Given the description of an element on the screen output the (x, y) to click on. 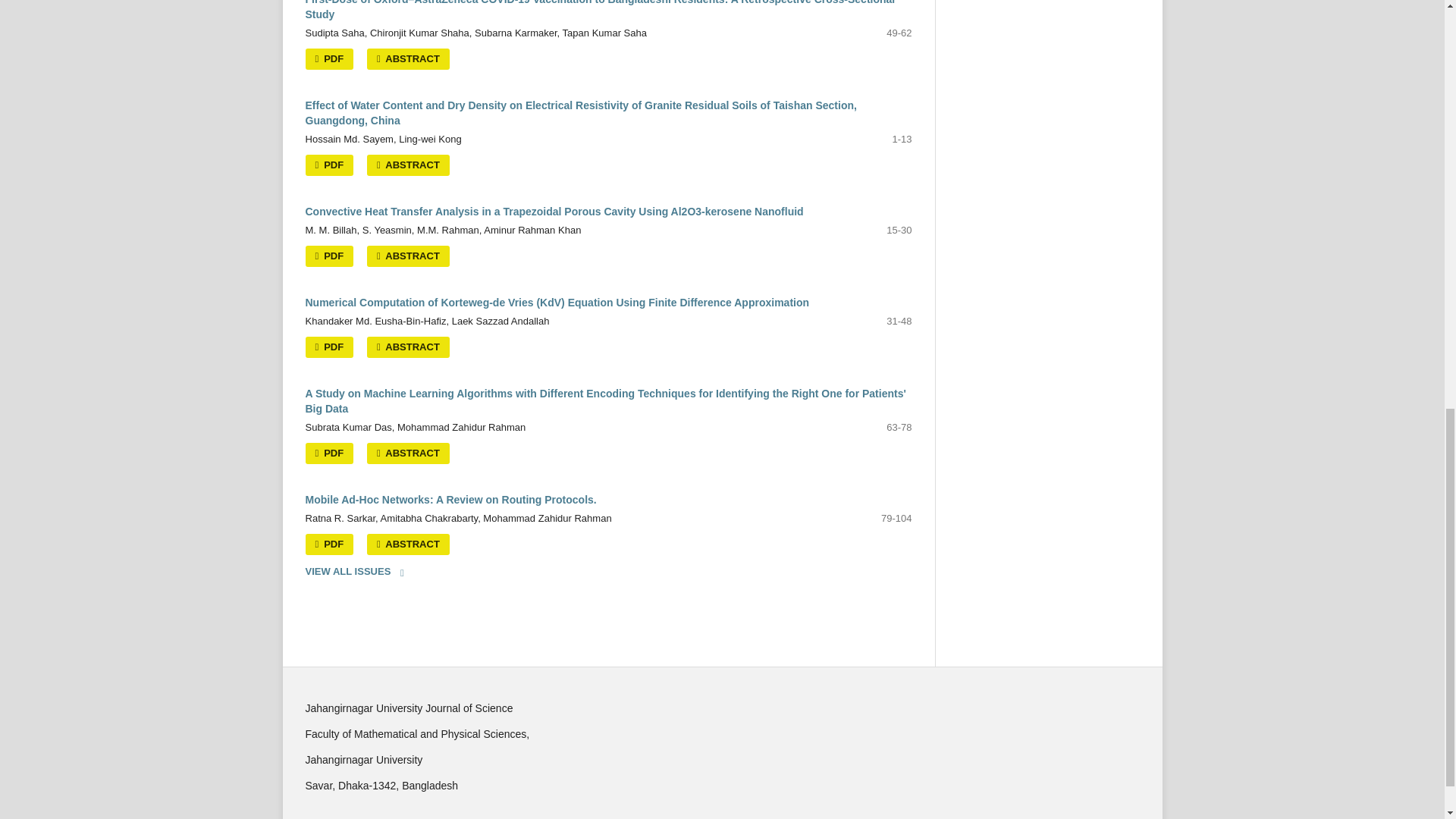
ABSTRACT (407, 255)
PDF (328, 255)
PDF (328, 58)
ABSTRACT (407, 165)
ABSTRACT (407, 58)
PDF (328, 165)
